Given the description of an element on the screen output the (x, y) to click on. 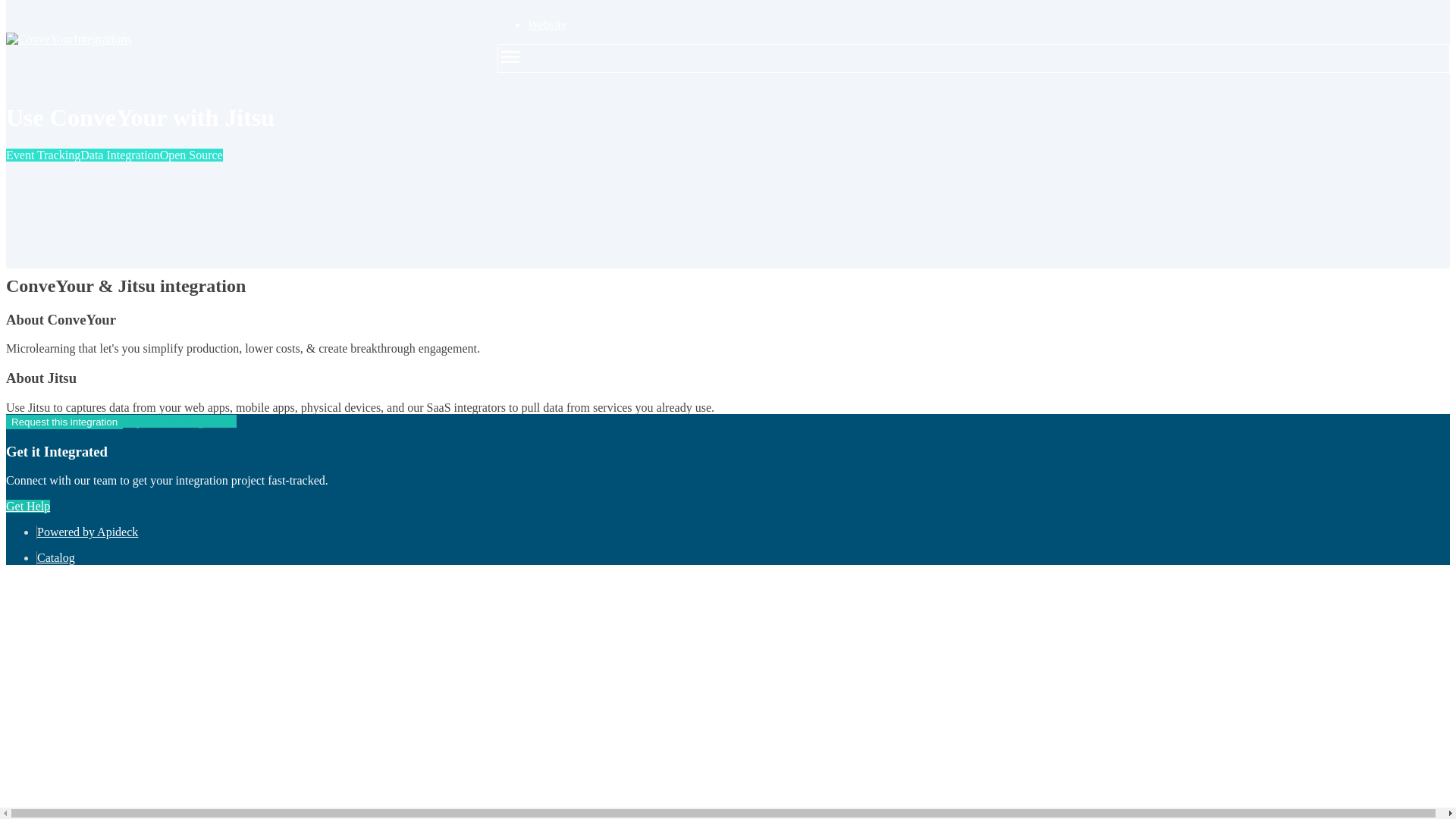
ConveYour (39, 38)
Jitsu (22, 239)
Get Help (27, 505)
Explore all integrations (178, 252)
Request this integration (63, 253)
Catalog (56, 557)
ConveYour (39, 225)
Website (546, 24)
Integrations (236, 38)
Request this integration (63, 421)
